Given the description of an element on the screen output the (x, y) to click on. 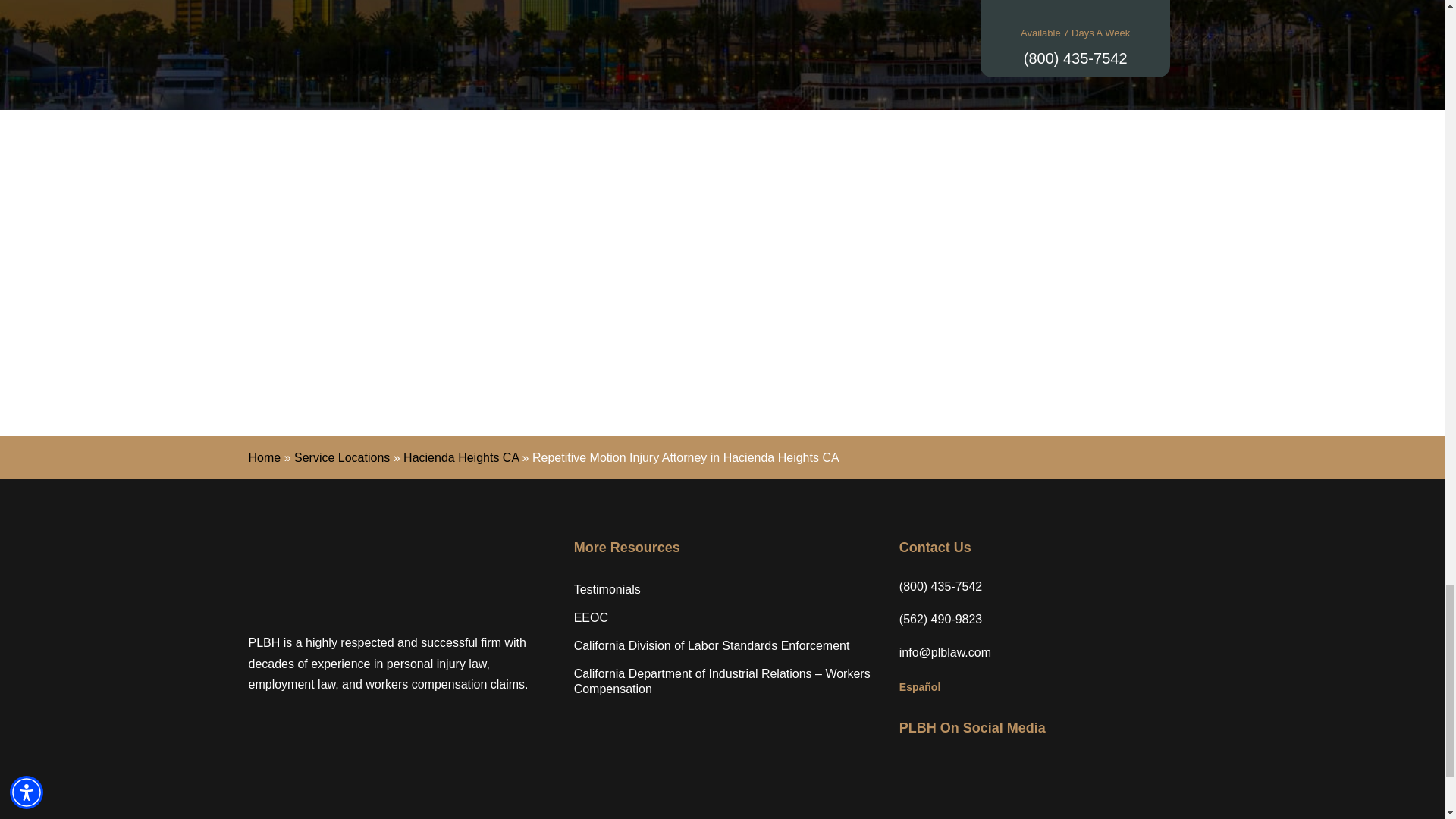
This Firm is Lead Counsel Verified. (1112, 317)
View the profile of Southern California Workers'  (916, 317)
Top 10 Jury Verdicts All Practice Area Todd H. Harrison (331, 317)
PLBH (343, 574)
Top 10 Jury Verdicts All Practice Area PLBH (526, 317)
Email (945, 652)
